Given the description of an element on the screen output the (x, y) to click on. 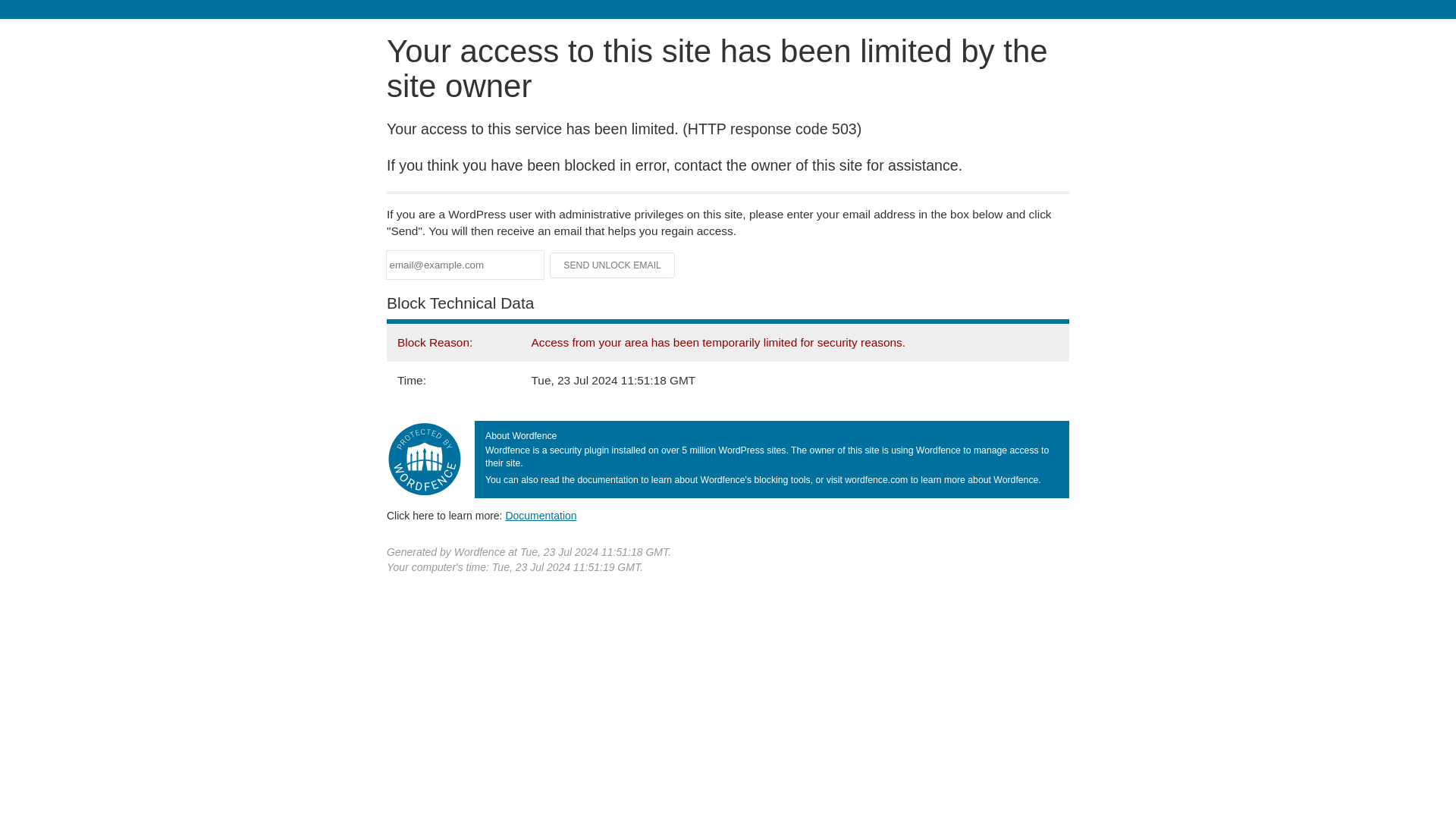
Send Unlock Email (612, 265)
Documentation (540, 515)
Send Unlock Email (612, 265)
